Given the description of an element on the screen output the (x, y) to click on. 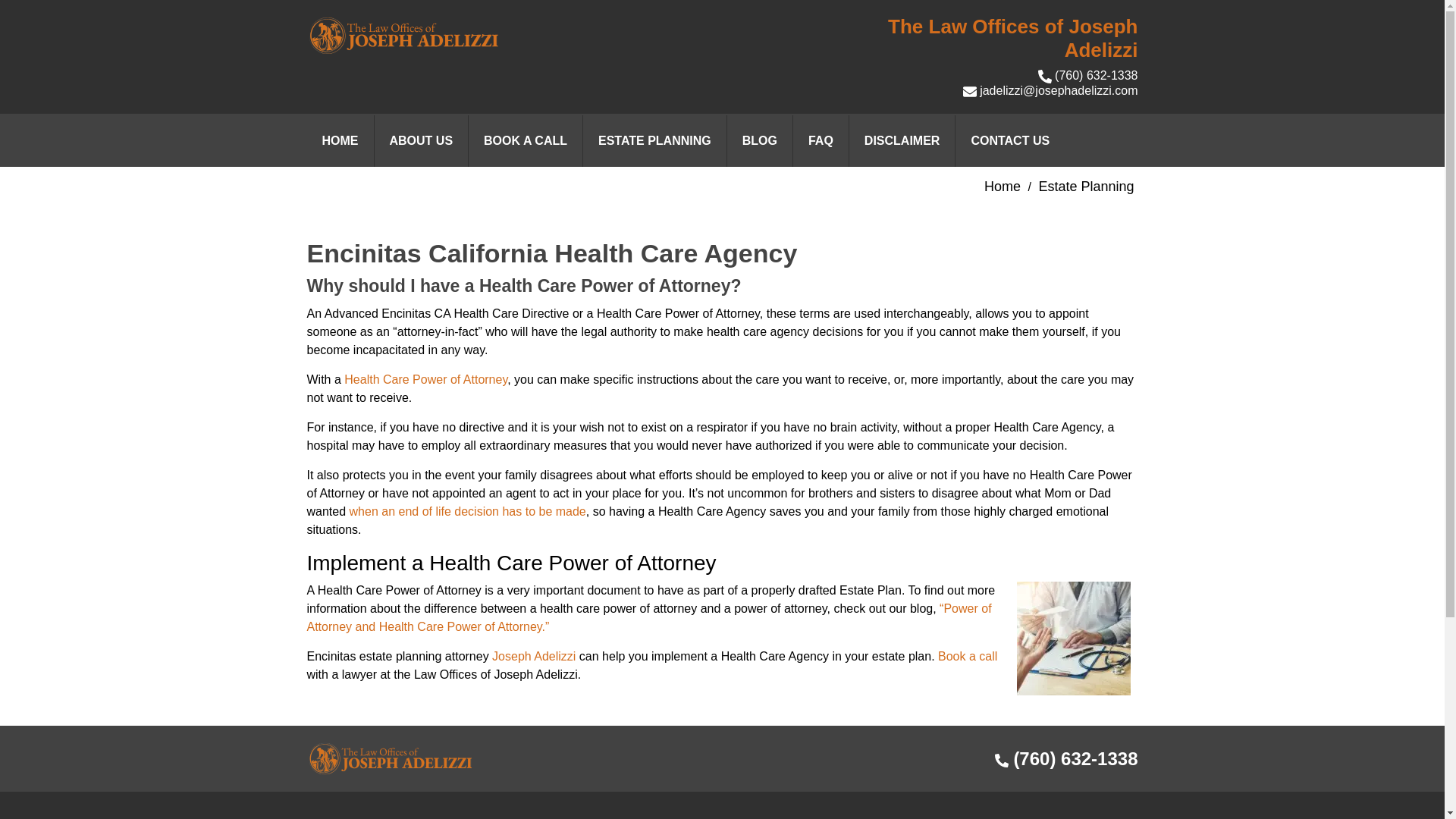
CONTACT US (1009, 141)
ESTATE PLANNING (654, 141)
The Law Offices of Joseph Adelizzi (389, 758)
Home (1002, 186)
FAQ (820, 141)
HOME (338, 141)
DISCLAIMER (901, 141)
BLOG (759, 141)
ABOUT US (419, 141)
The Law Offices of Joseph Adelizzi (402, 35)
Joseph Adelizzi (533, 656)
Health Care Power of Attorney (424, 379)
Estate Planning (1086, 186)
when an end of life decision has to be made (467, 511)
BOOK A CALL (524, 141)
